Given the description of an element on the screen output the (x, y) to click on. 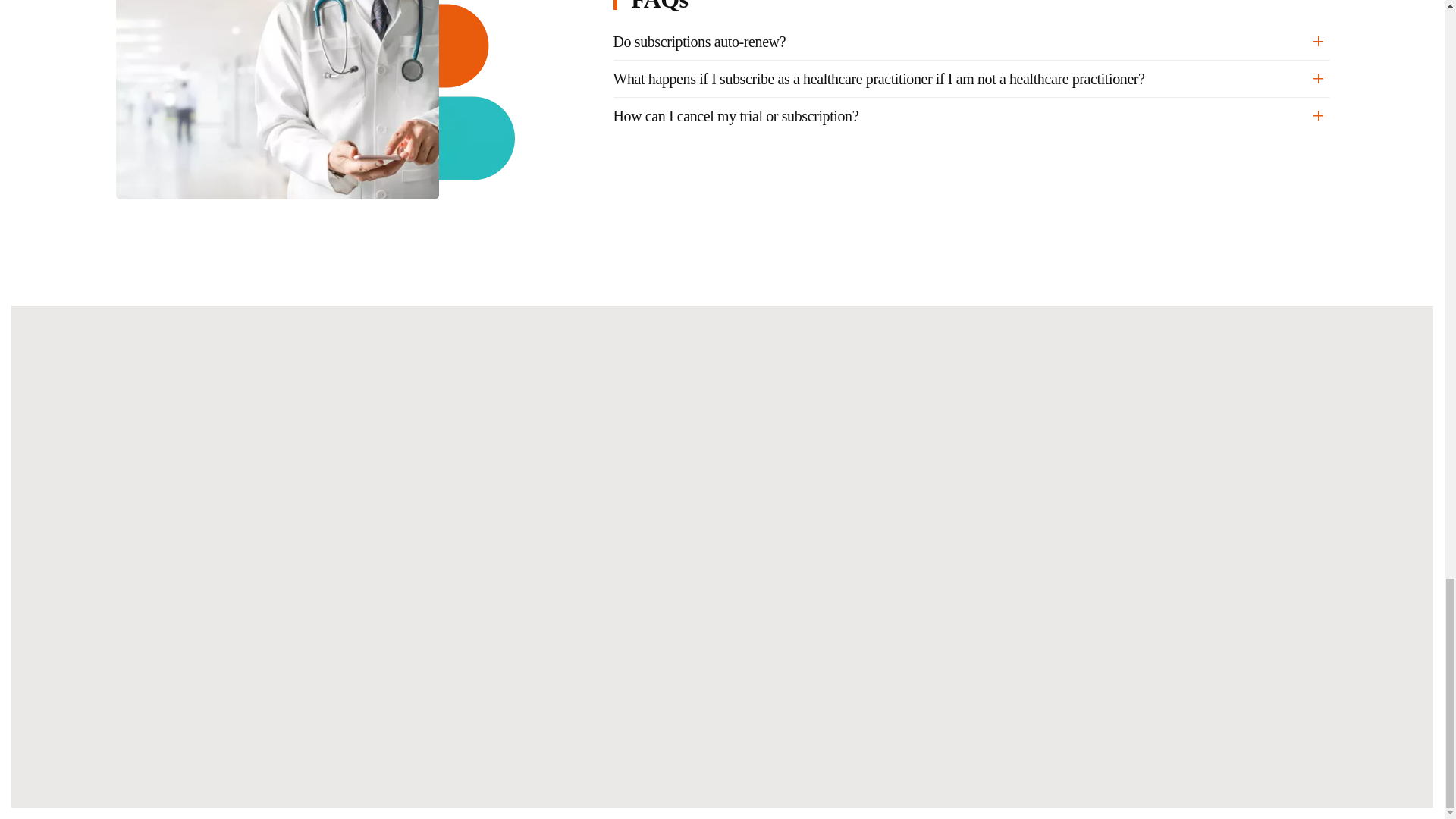
Do subscriptions auto-renew? (969, 41)
How can I cancel my trial or subscription? (969, 115)
